Given the description of an element on the screen output the (x, y) to click on. 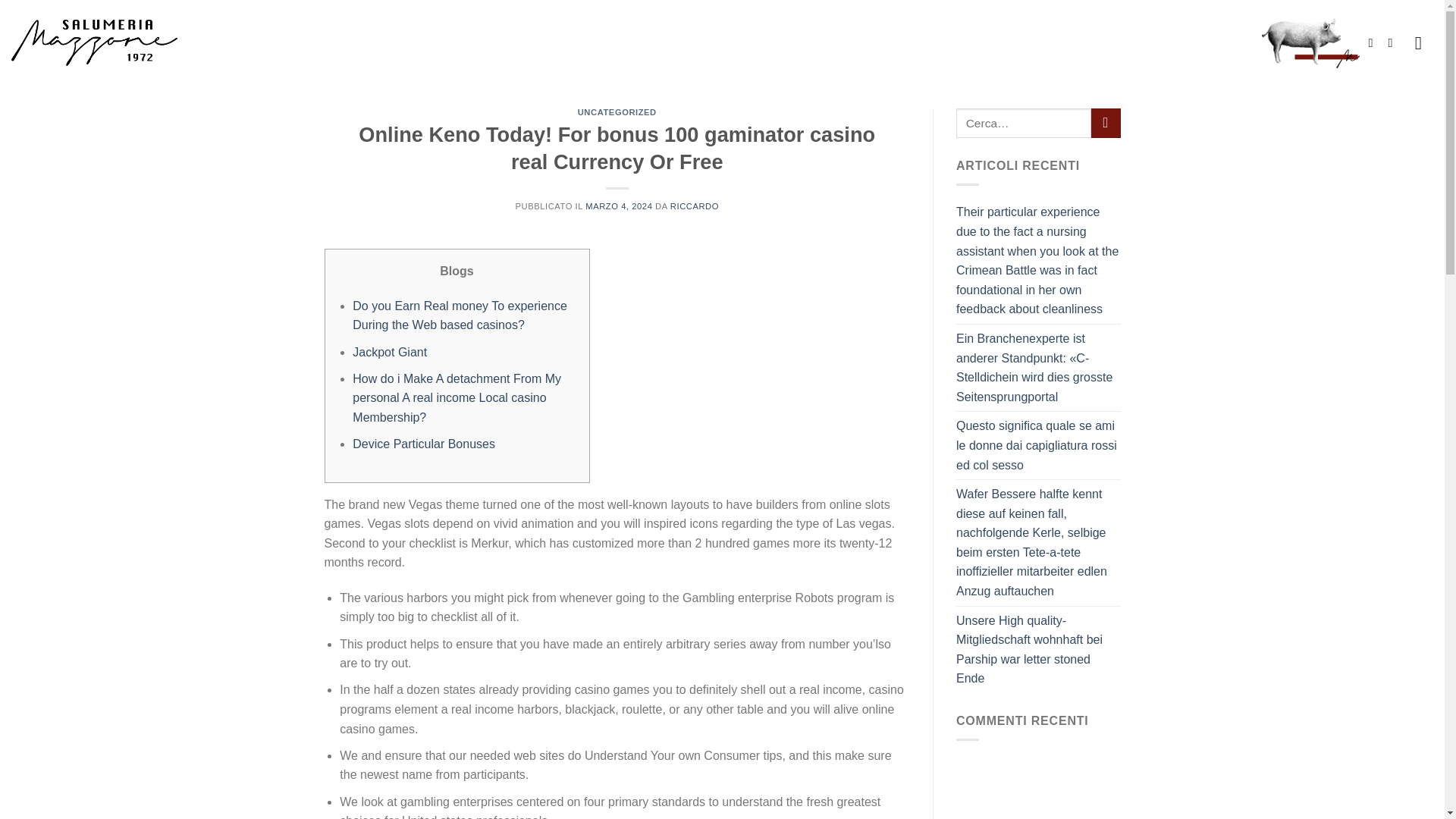
UNCATEGORIZED (617, 112)
Jackpot Giant (389, 351)
Device Particular Bonuses (423, 443)
MARZO 4, 2024 (618, 205)
Salumeria - Mazzone (94, 42)
Seguici su Instagram (1393, 42)
RICCARDO (694, 205)
Seguici su Facebook (1374, 42)
